Given the description of an element on the screen output the (x, y) to click on. 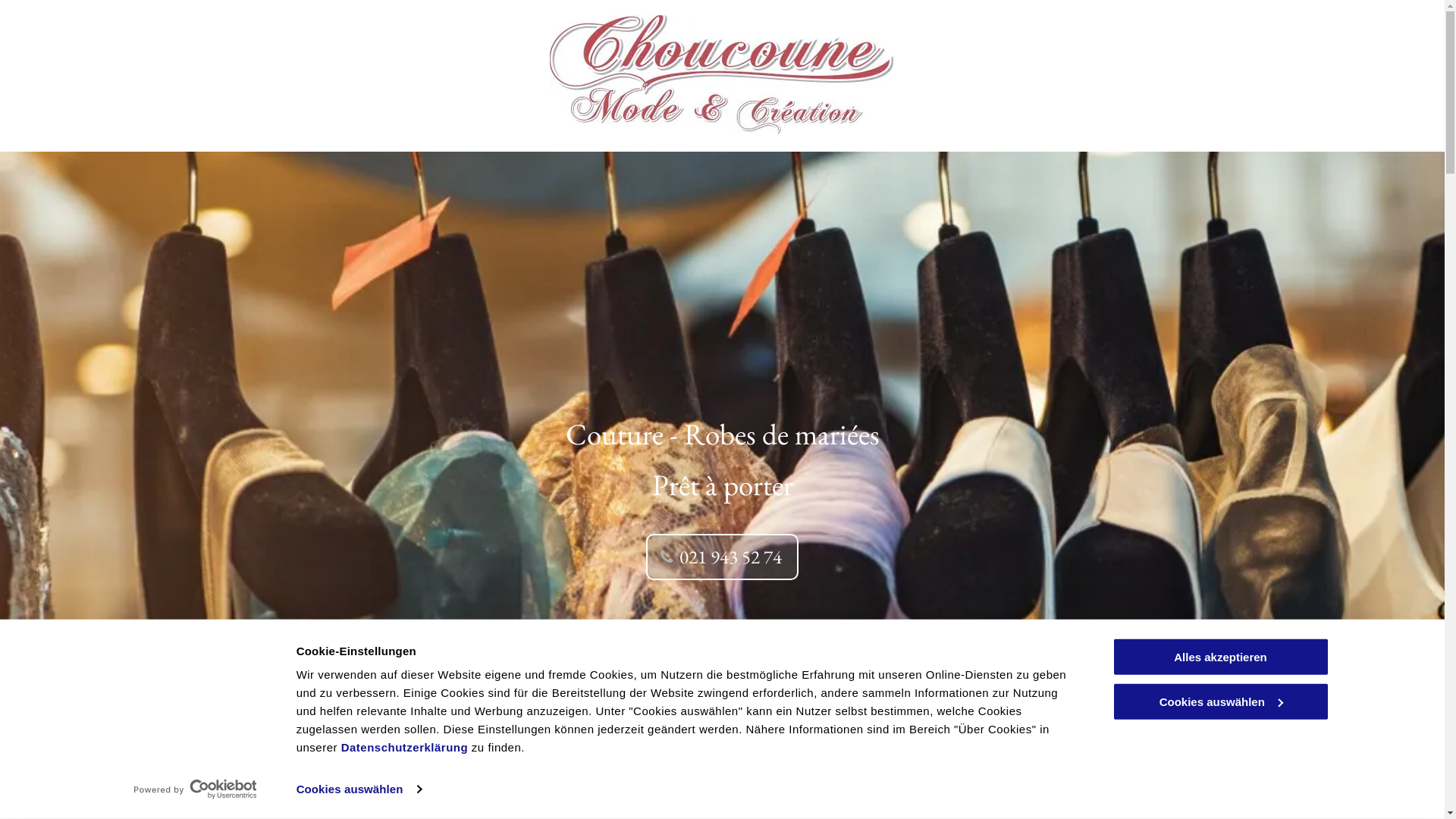
021 943 52 74 Element type: text (722, 556)
Alles akzeptieren Element type: text (1219, 656)
